Given the description of an element on the screen output the (x, y) to click on. 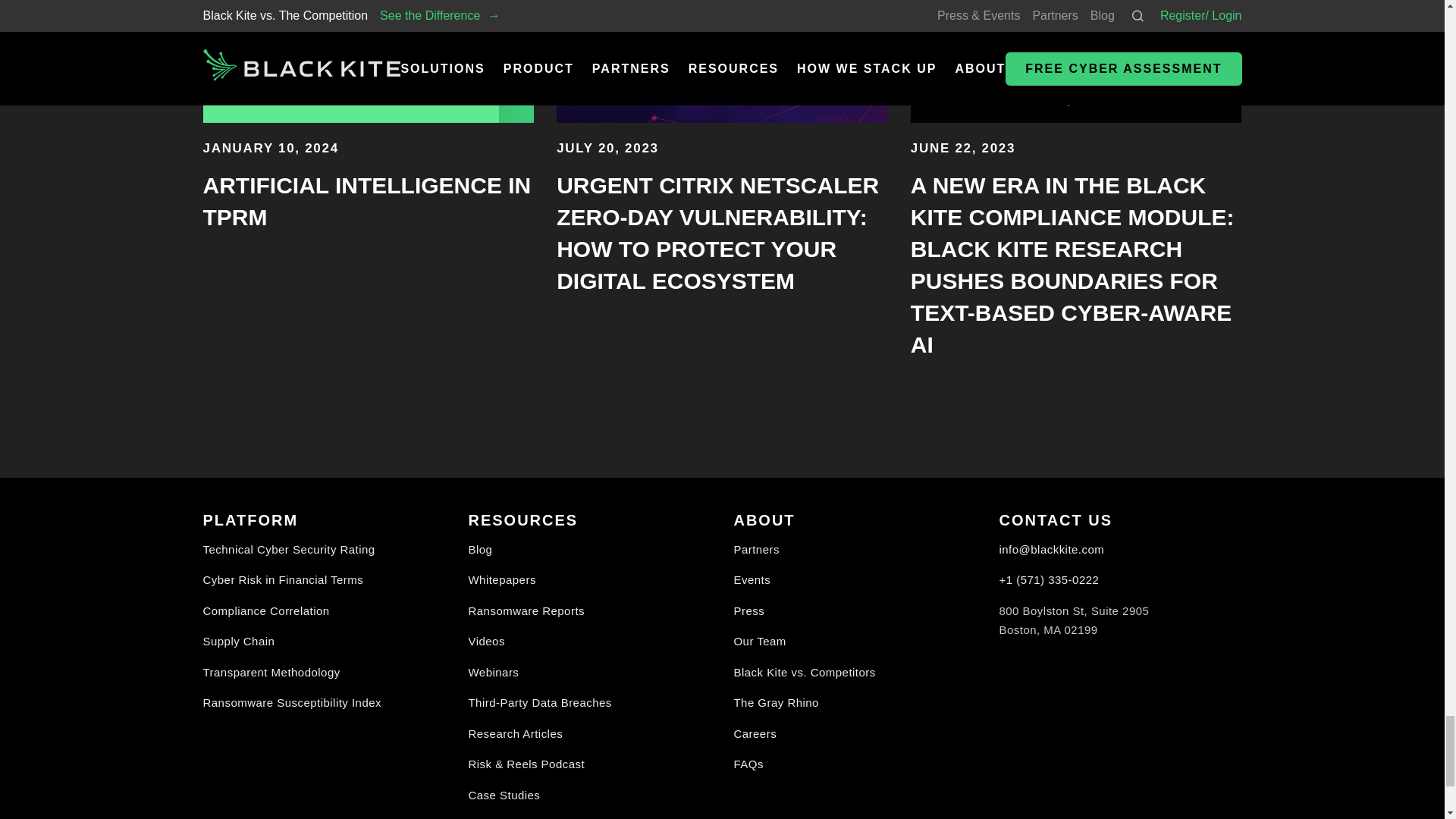
Artificial Intelligence in TPRM (367, 201)
